Given the description of an element on the screen output the (x, y) to click on. 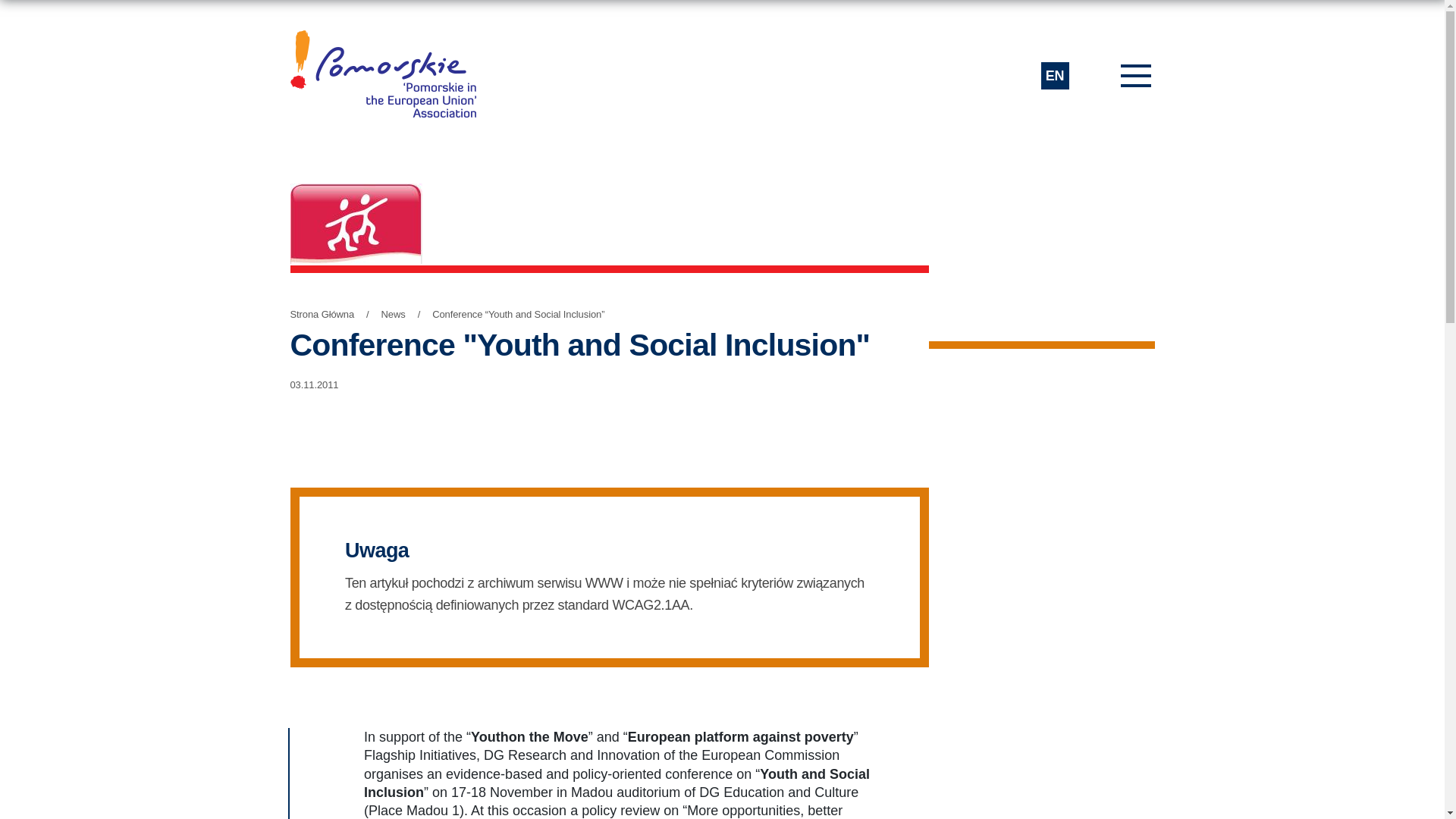
News (393, 314)
EN (1054, 75)
